Given the description of an element on the screen output the (x, y) to click on. 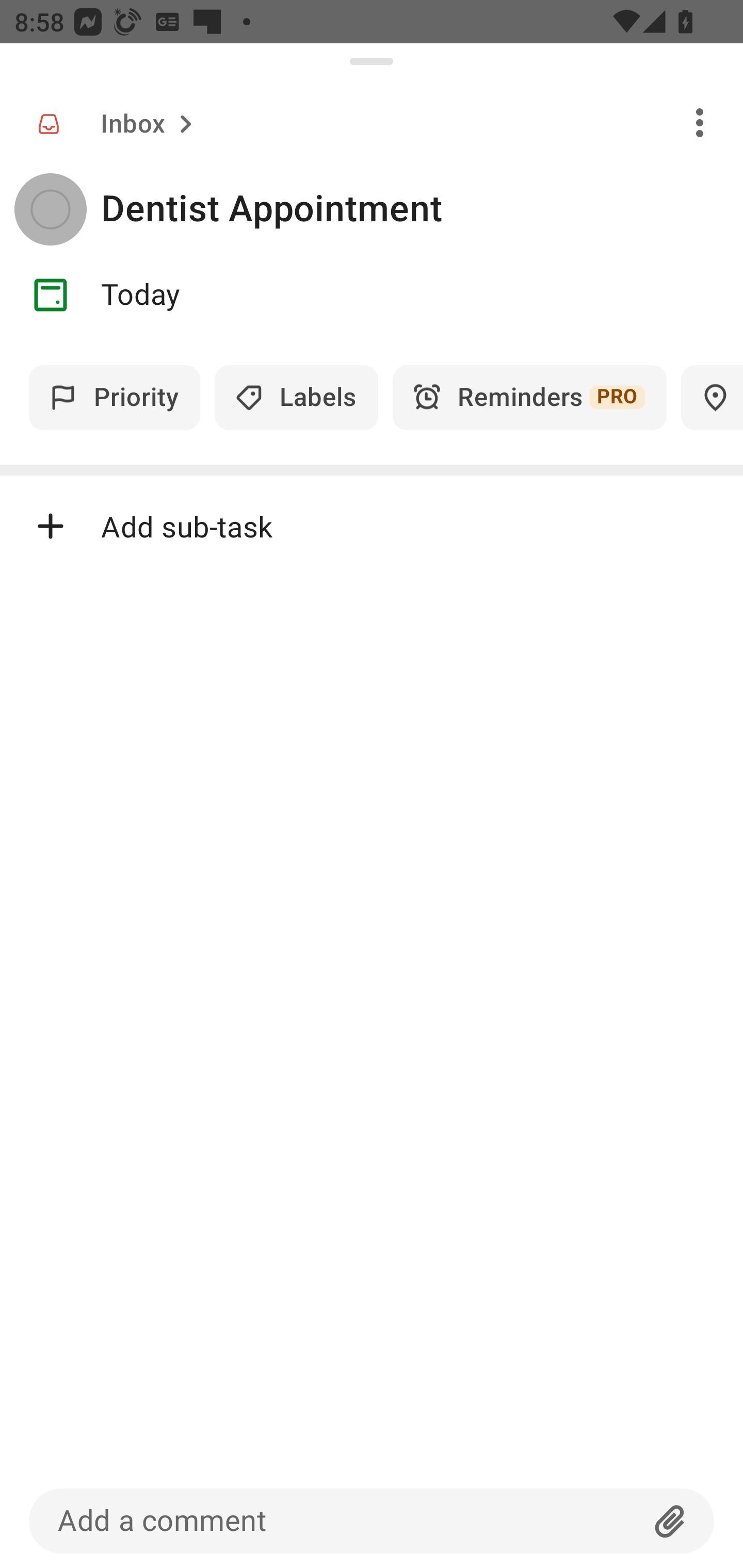
Overflow menu (699, 122)
Complete (50, 209)
Dentist Appointment​ (422, 209)
Date Today (371, 295)
Priority (113, 397)
Labels (296, 397)
Reminders PRO (529, 397)
Locations PRO (712, 397)
Add sub-task (371, 525)
Add a comment Attachment (371, 1520)
Attachment (670, 1520)
